Given the description of an element on the screen output the (x, y) to click on. 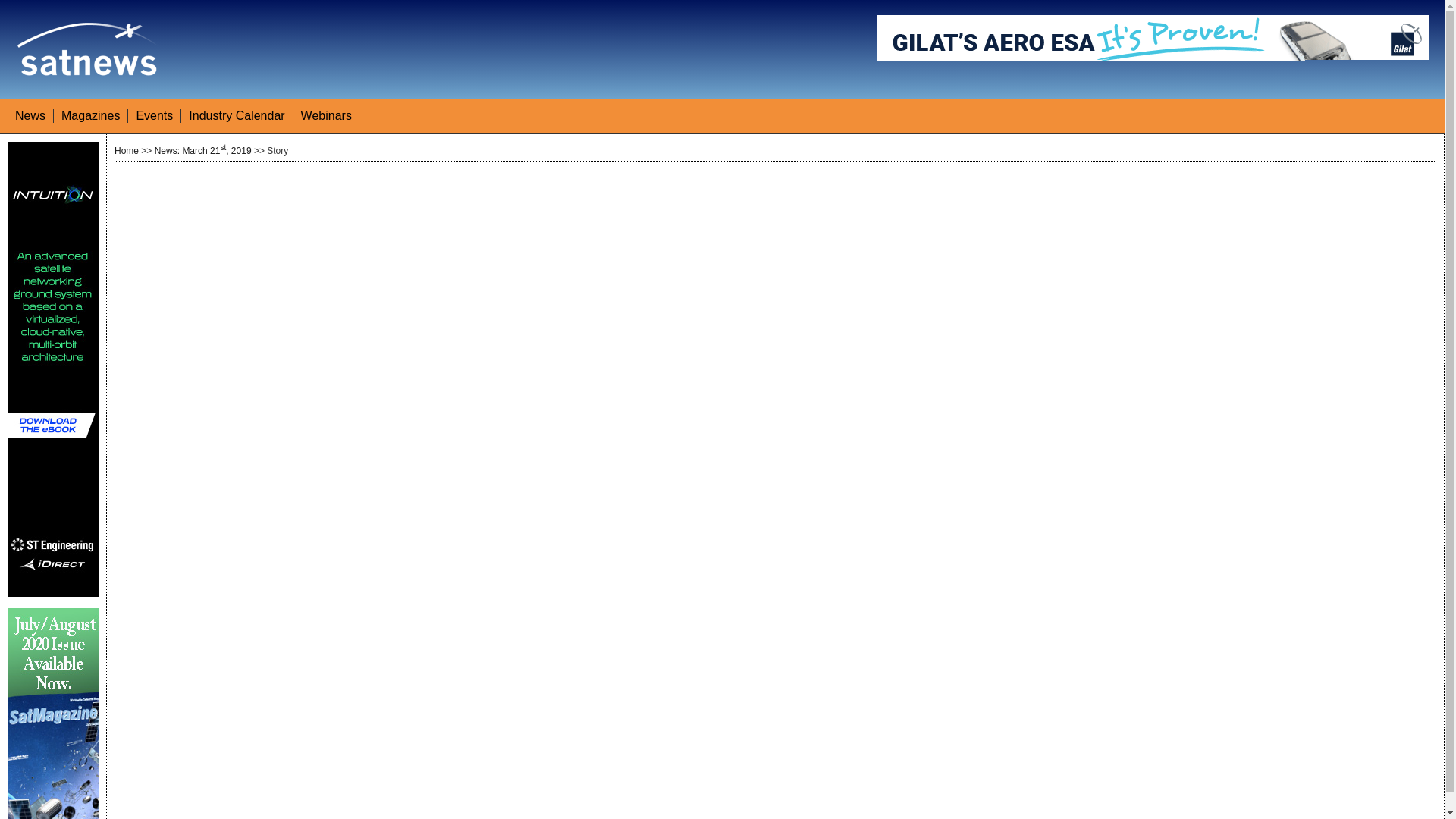
Events (154, 115)
Industry Calendar (236, 115)
News (29, 115)
Webinars (326, 115)
Magazines (90, 115)
News: March 21st, 2019 (202, 150)
Home (126, 150)
